Given the description of an element on the screen output the (x, y) to click on. 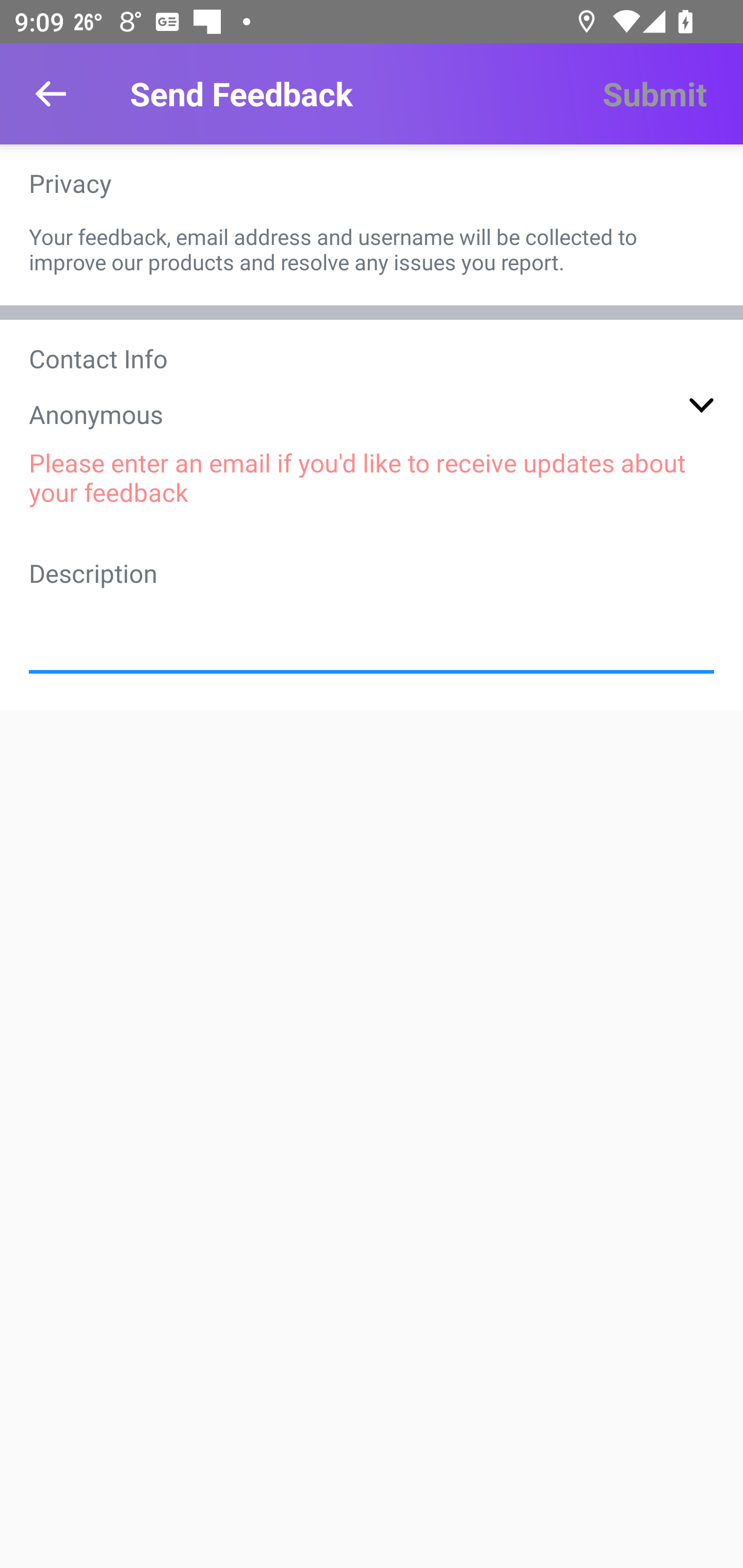
Navigate up (50, 93)
Submit (654, 94)
Anonymous (371, 413)
feedback (371, 626)
